Given the description of an element on the screen output the (x, y) to click on. 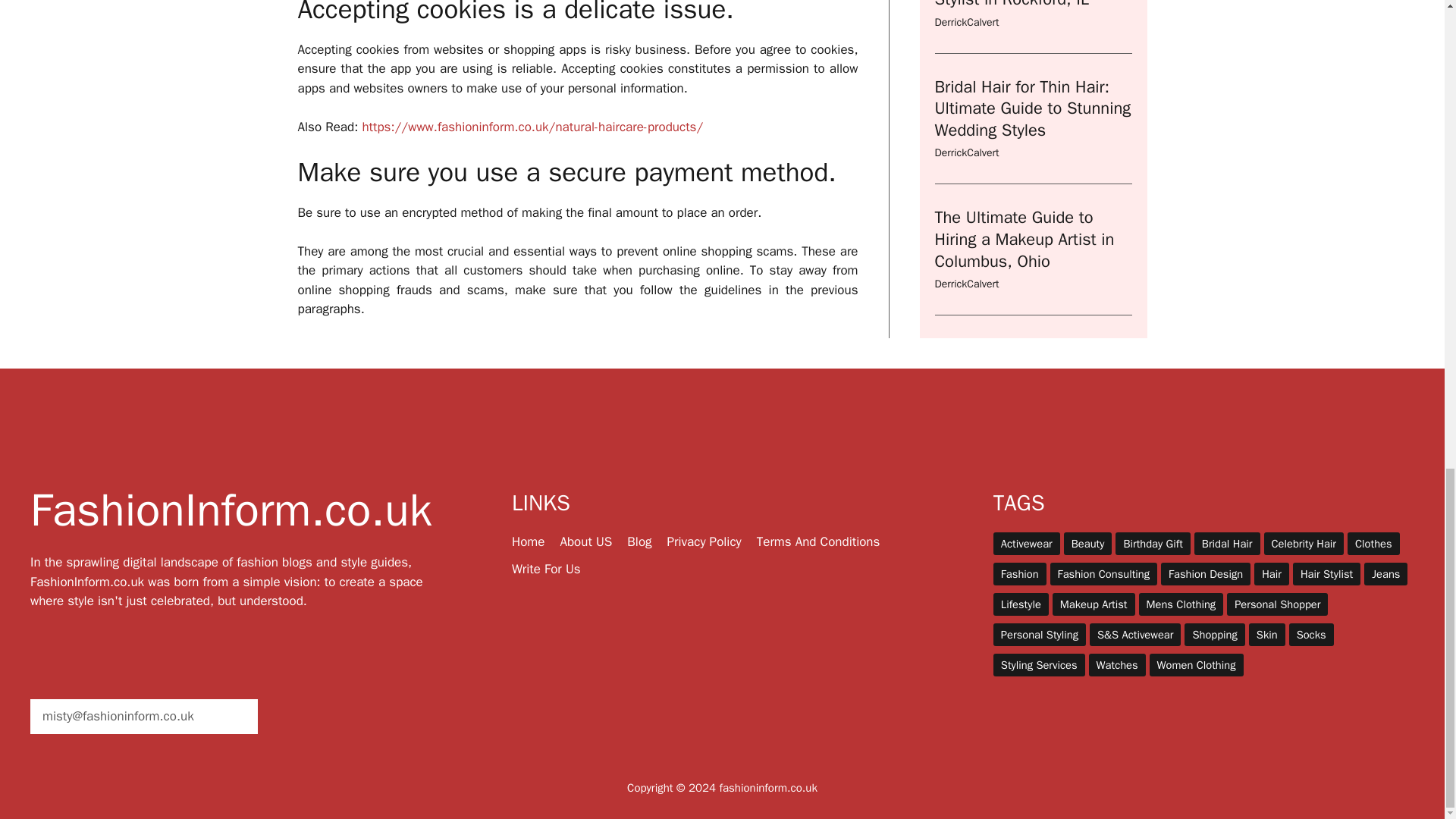
Terms And Conditions (818, 541)
Jeans (1385, 573)
Fashion Design (1205, 573)
Beauty (1088, 543)
Birthday Gift (1152, 543)
Home (528, 541)
Hair Stylist (1325, 573)
Lifestyle (1020, 603)
Privacy Policy (703, 541)
Celebrity Hair (1303, 543)
Fashion Consulting (1103, 573)
Write For Us (546, 569)
Makeup Artist (1093, 603)
Activewear (1025, 543)
Clothes (1373, 543)
